Given the description of an element on the screen output the (x, y) to click on. 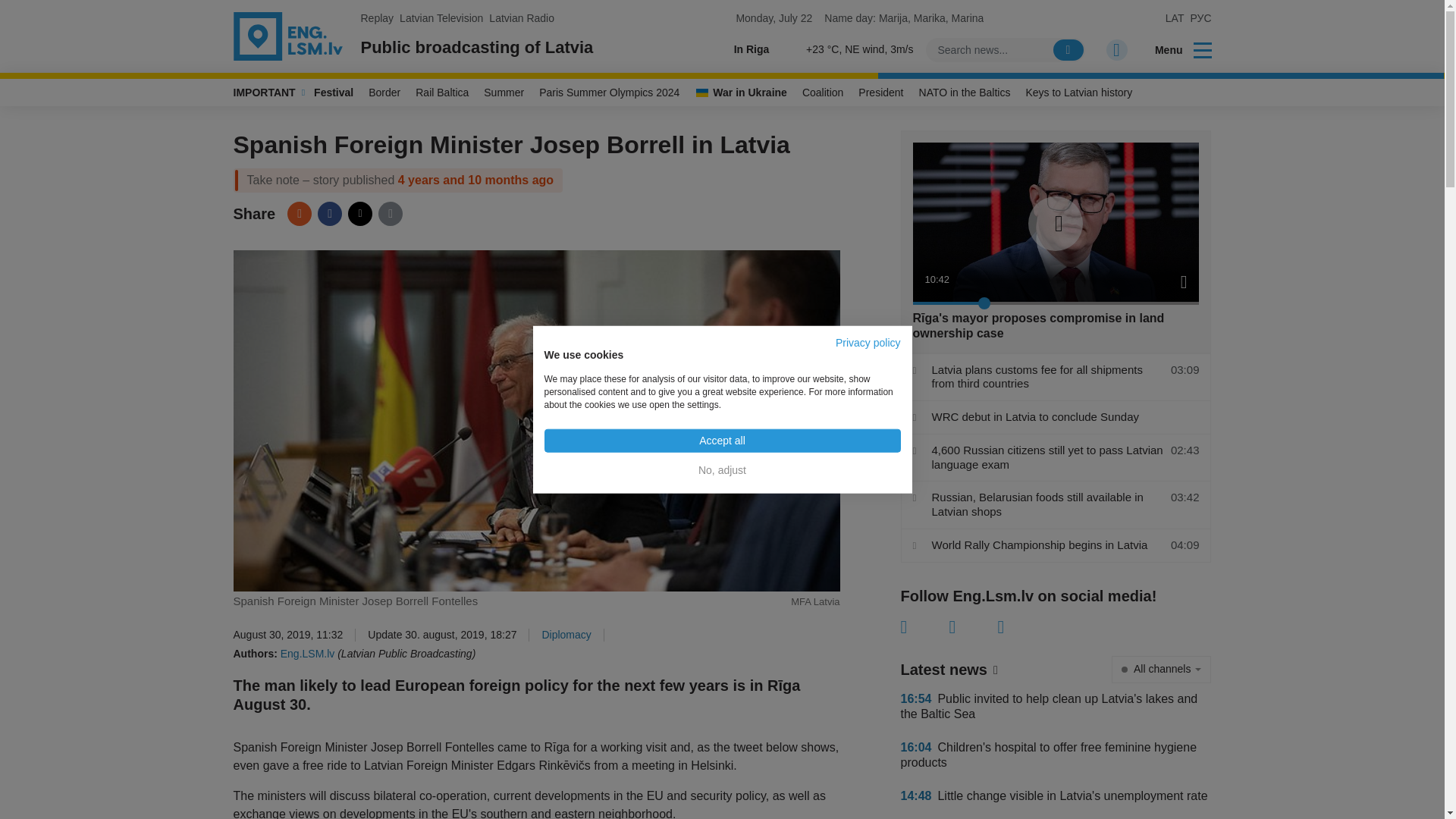
X (973, 627)
LAT (1175, 18)
Linkedin (1021, 627)
War in Ukraine (740, 92)
President (880, 92)
Rail Baltica (441, 92)
Border (384, 92)
NATO in the Baltics (964, 92)
Latvian Television (440, 18)
Draugiem (298, 213)
Coalition (822, 92)
Festival (333, 92)
Keys to Latvian history (1078, 92)
Replay (377, 18)
Paris Summer Olympics 2024 (609, 92)
